Given the description of an element on the screen output the (x, y) to click on. 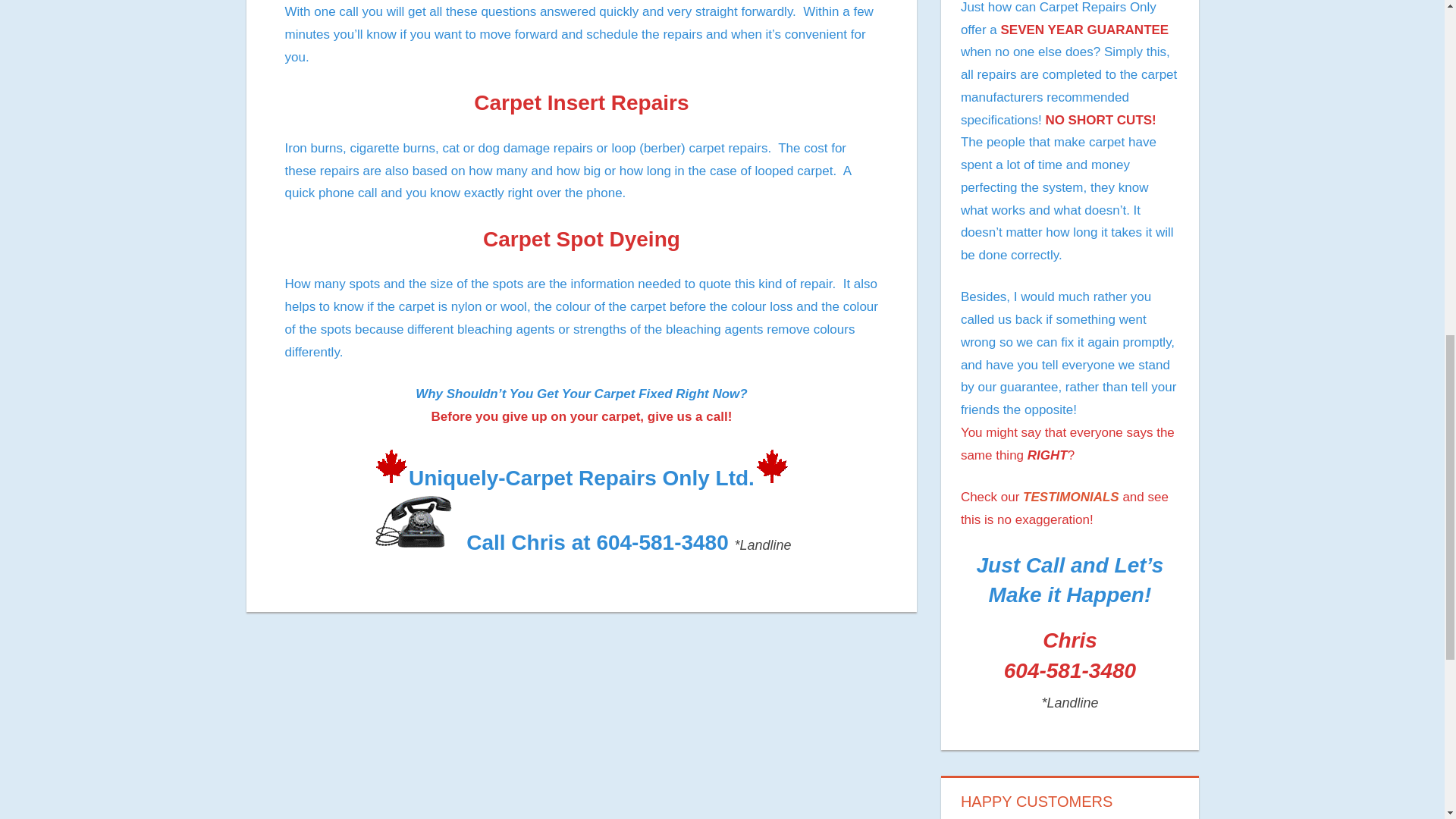
TESTIMONIALS (1071, 496)
